Given the description of an element on the screen output the (x, y) to click on. 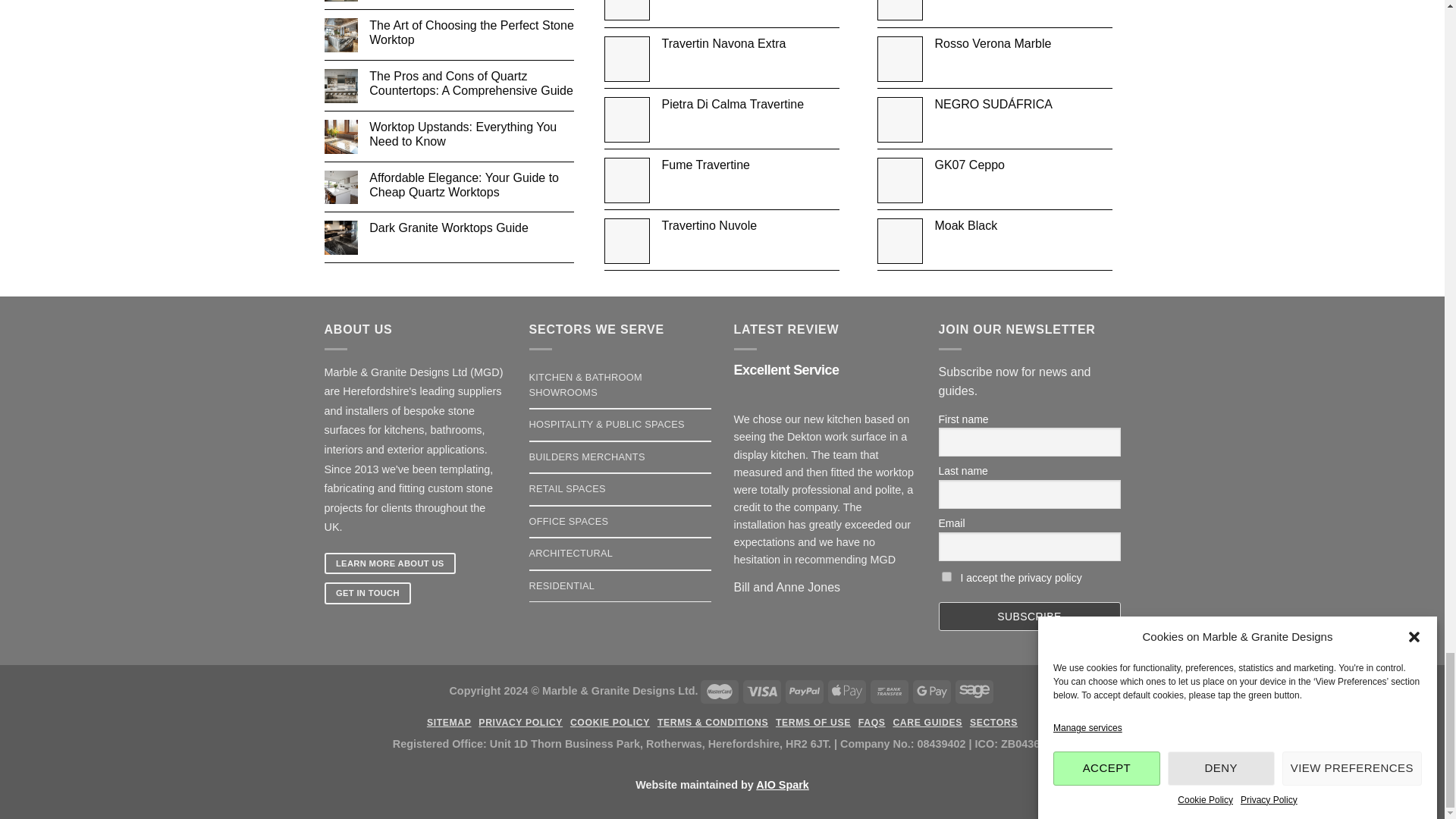
Subscribe (1030, 615)
on (947, 576)
